Given the description of an element on the screen output the (x, y) to click on. 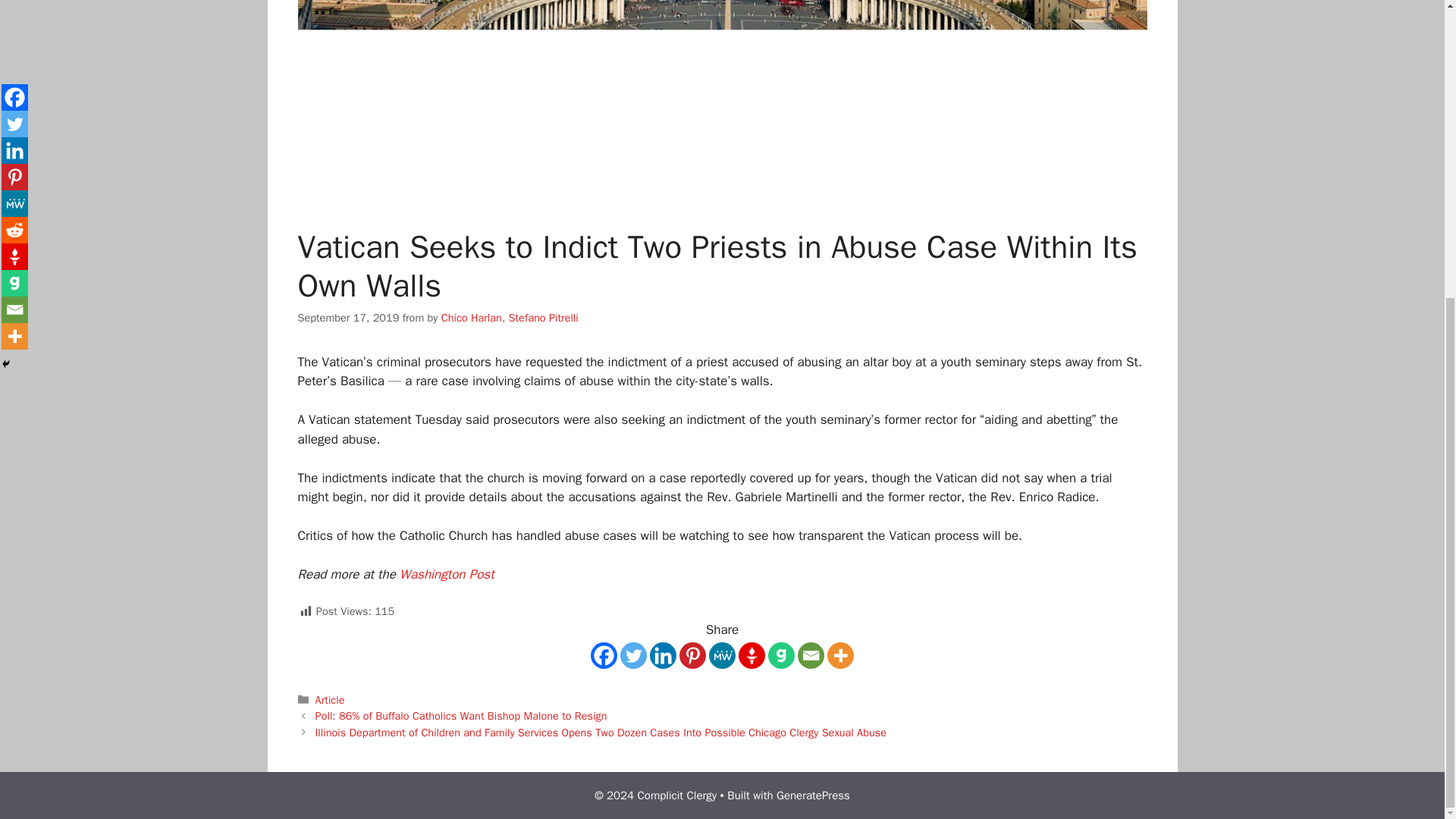
Facebook (604, 655)
MeWe (722, 655)
Twitter (633, 655)
Gettr (751, 655)
Gab (781, 655)
Linkedin (663, 655)
Washington Post (446, 574)
Pinterest (692, 655)
Chico Harlan (471, 317)
More (840, 655)
